Given the description of an element on the screen output the (x, y) to click on. 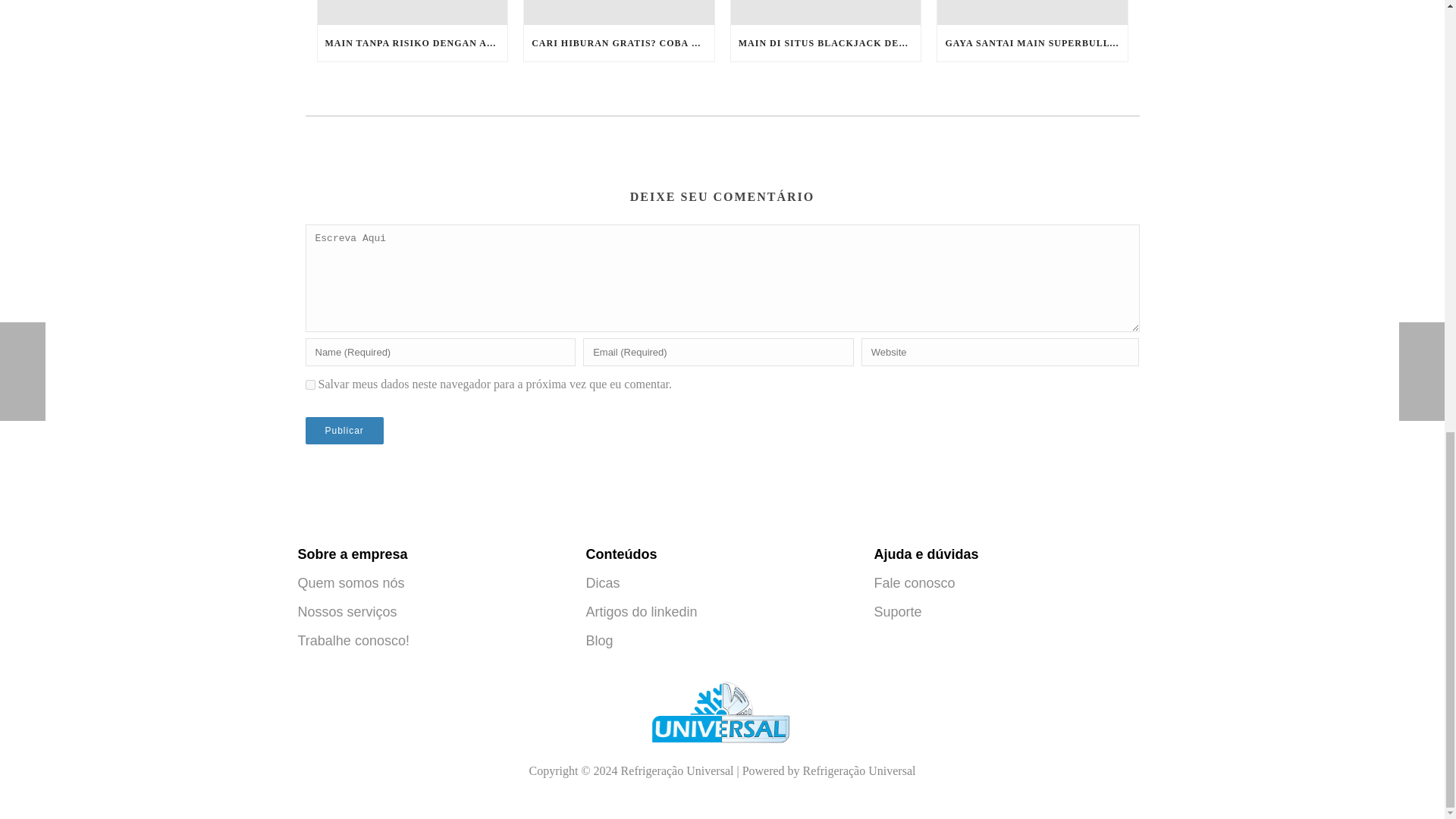
Cari Hiburan Gratis? Coba Main Slot Demo Mahjong! (619, 12)
CARI HIBURAN GRATIS? COBA MAIN SLOT DEMO MAHJONG! (619, 43)
GAYA SANTAI MAIN SUPERBULL ONLINE TANPA RUGI (1031, 43)
Gaya Santai Main Superbull Online Tanpa Rugi (1031, 12)
Publicar (343, 430)
yes (309, 384)
